Given the description of an element on the screen output the (x, y) to click on. 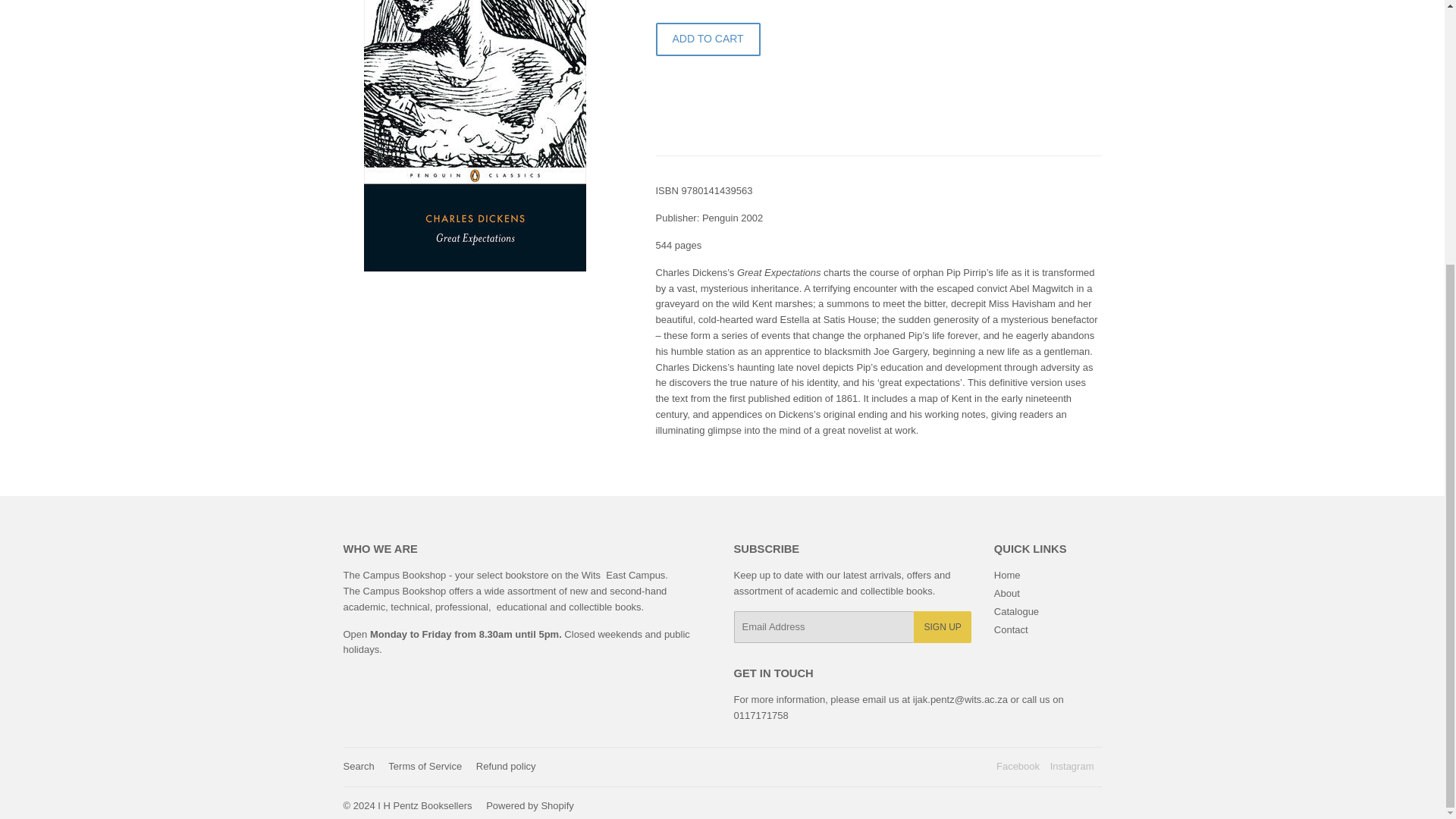
Instagram (1071, 766)
SIGN UP (942, 626)
Powered by Shopify (529, 805)
Search (358, 766)
Refund policy (505, 766)
I H Pentz Booksellers on Instagram (1071, 766)
About (1007, 593)
Catalogue (1016, 611)
Terms of Service (424, 766)
I H Pentz Booksellers on Facebook (1017, 766)
